Given the description of an element on the screen output the (x, y) to click on. 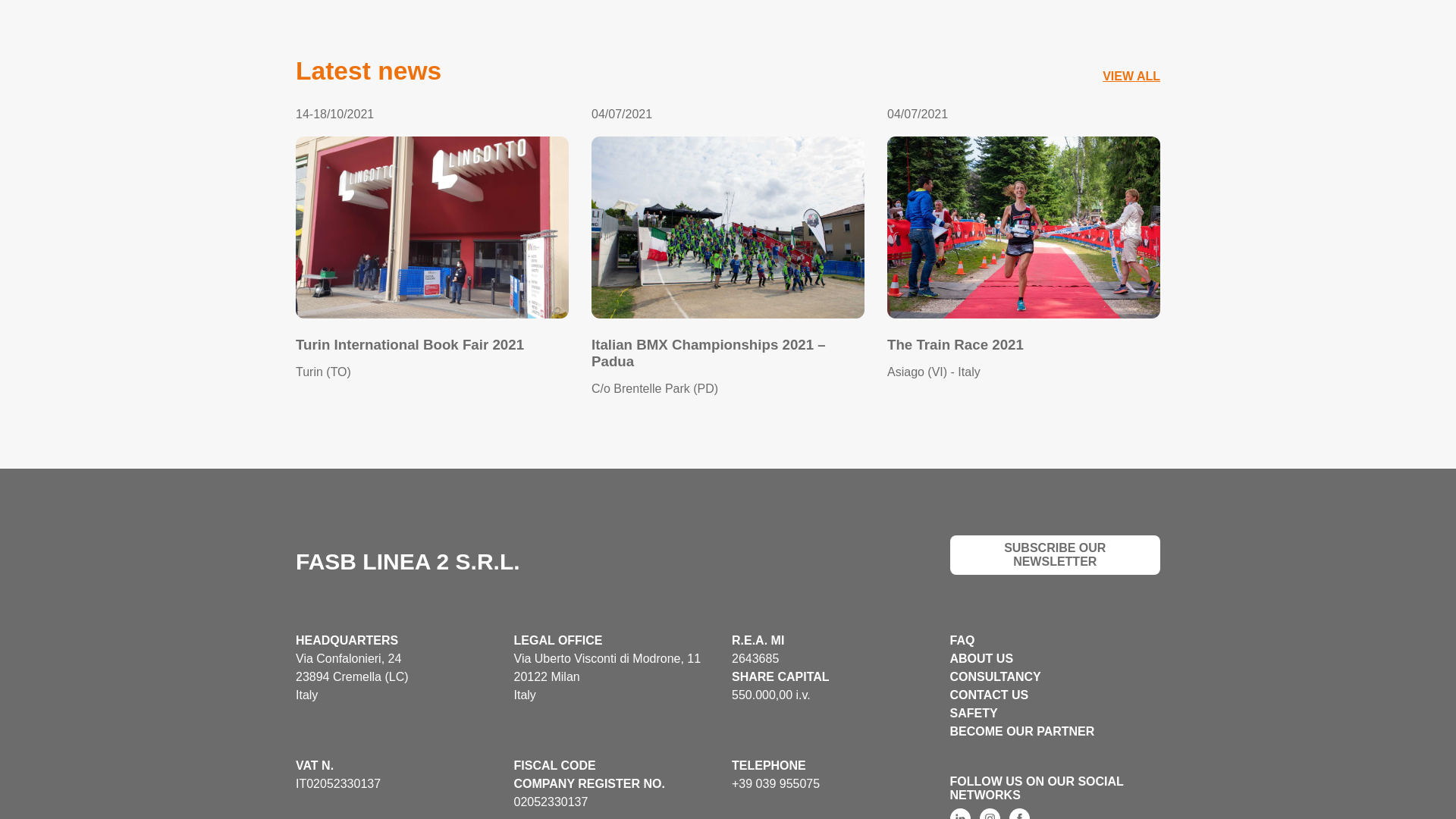
instagram transenne (989, 813)
The Train Race 2021 Transenne.net (1023, 227)
Turin International Book Fair 2021 Transenne.net (432, 227)
facebook transenne (1019, 813)
linkedin transenne (959, 813)
